Given the description of an element on the screen output the (x, y) to click on. 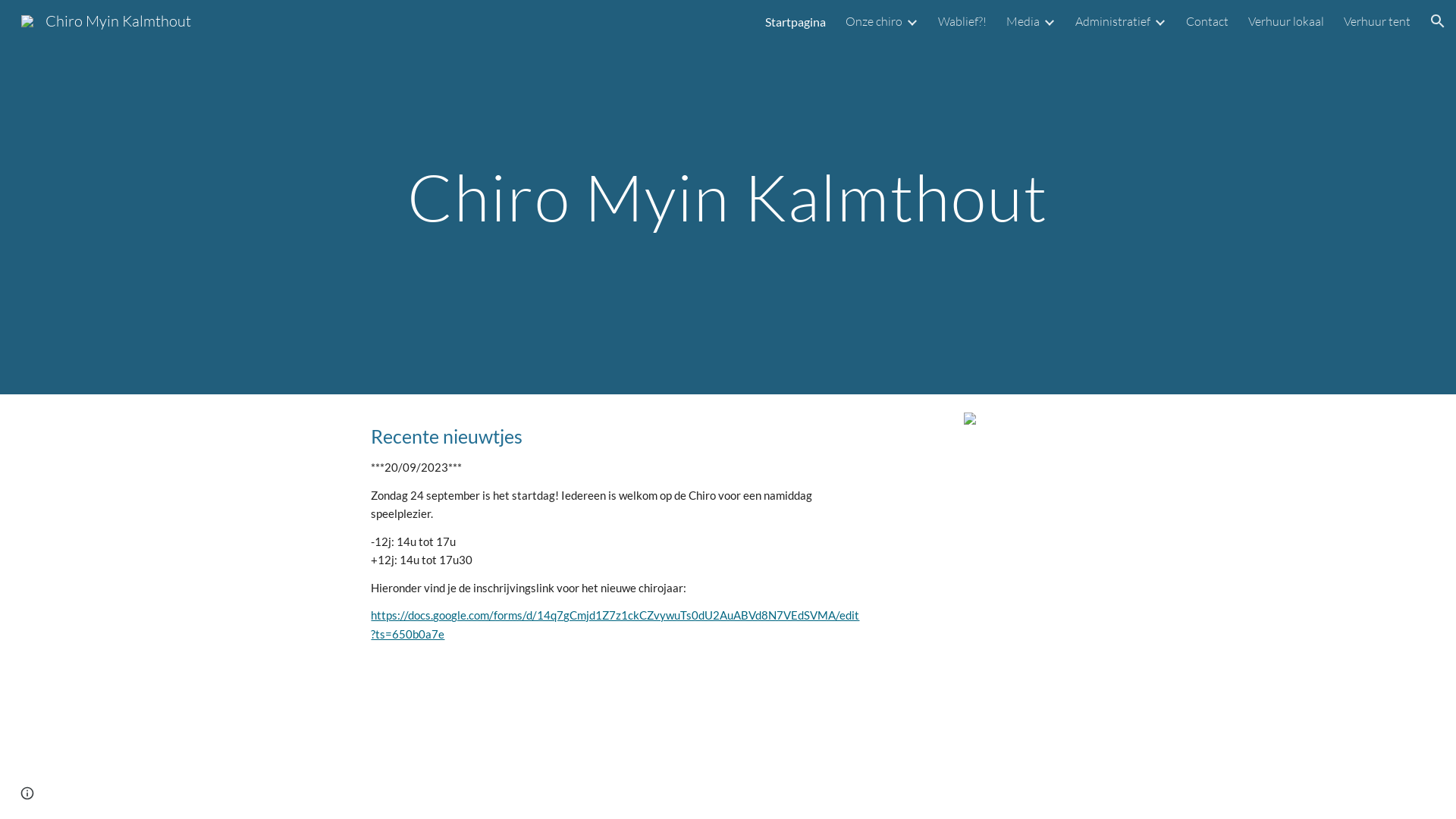
Media Element type: text (1022, 20)
Verhuur tent Element type: text (1376, 20)
Chiro Myin Kalmthout Element type: text (106, 18)
Verhuur lokaal Element type: text (1286, 20)
Onze chiro Element type: text (873, 20)
Startpagina Element type: text (795, 20)
Administratief Element type: text (1112, 20)
Wablief?! Element type: text (962, 20)
Expand/Collapse Element type: hover (1159, 20)
Expand/Collapse Element type: hover (911, 20)
Contact Element type: text (1207, 20)
Expand/Collapse Element type: hover (1048, 20)
